Given the description of an element on the screen output the (x, y) to click on. 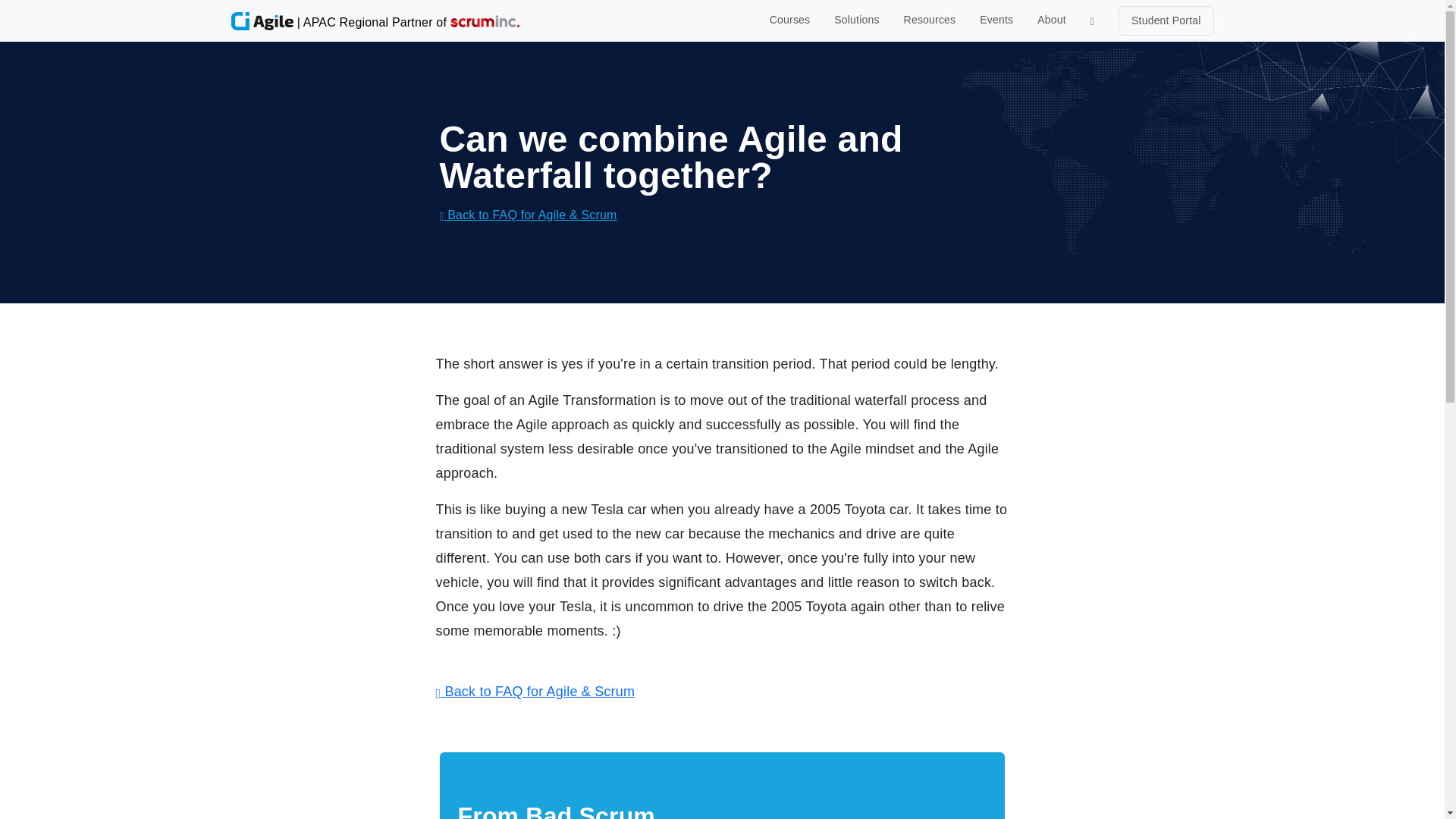
Solutions (856, 19)
Courses (789, 19)
Events (996, 19)
About (1051, 19)
Resources (929, 19)
Student Portal (1165, 20)
